Given the description of an element on the screen output the (x, y) to click on. 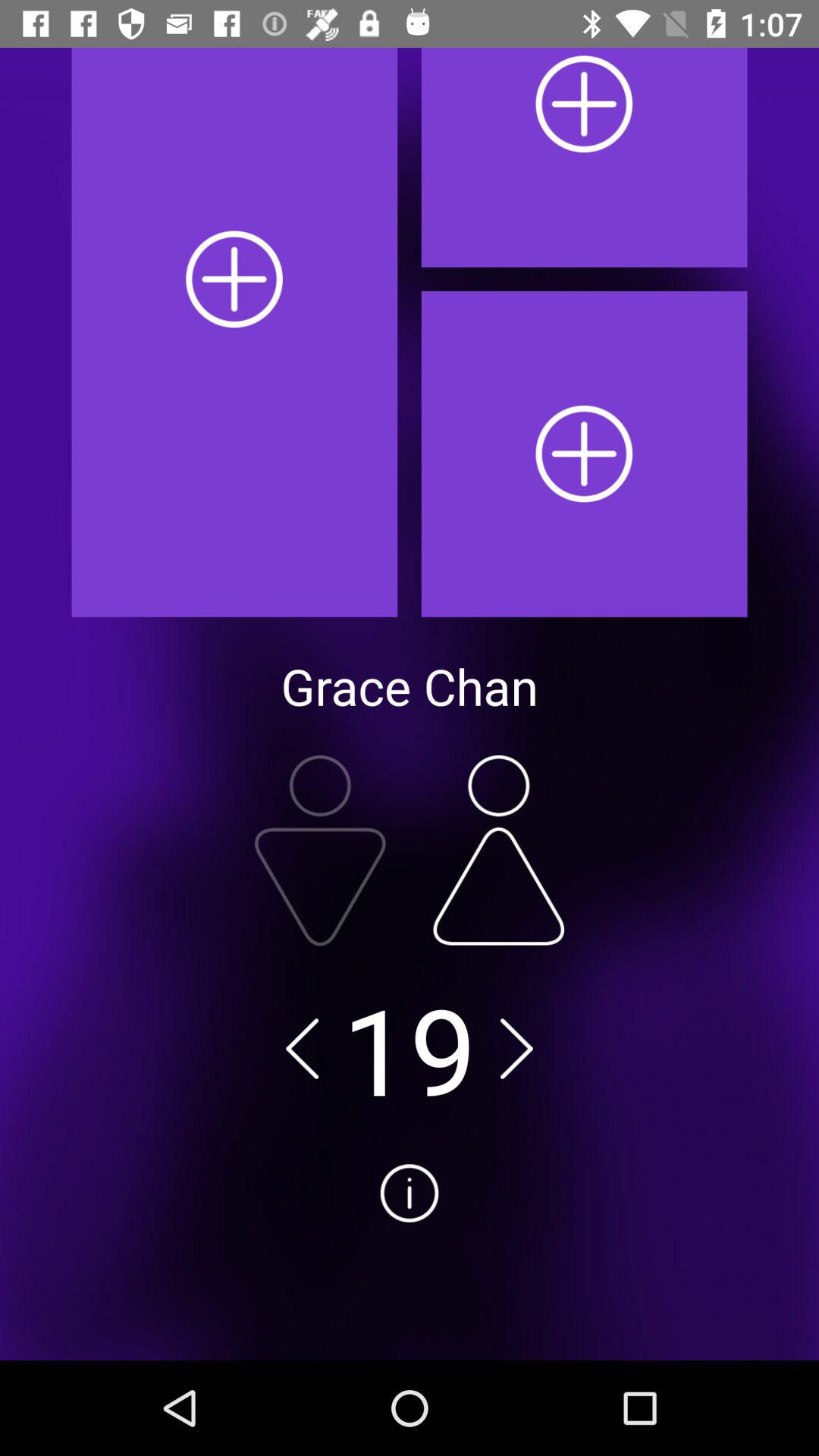
next the option (516, 1048)
